Given the description of an element on the screen output the (x, y) to click on. 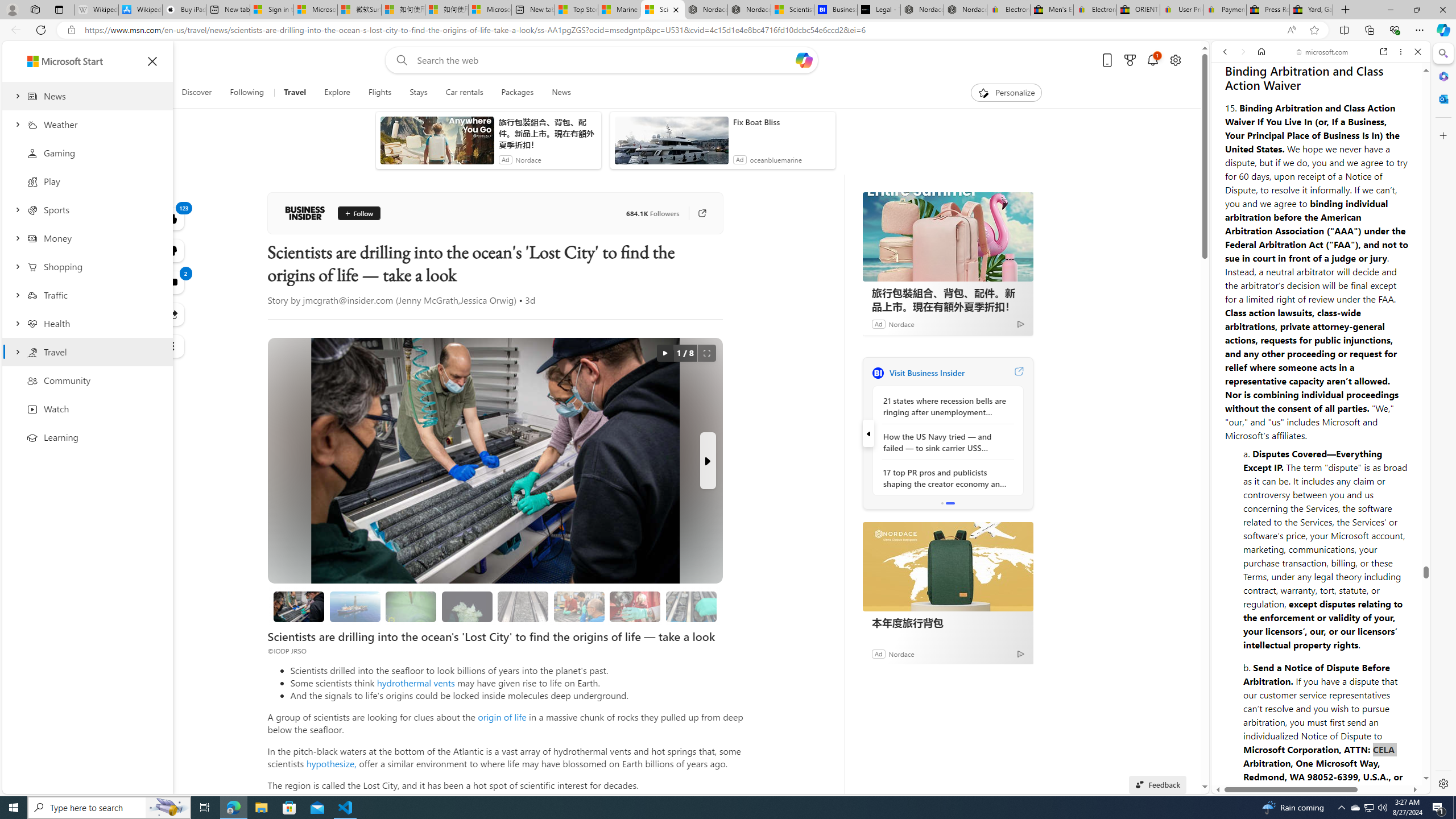
Looking for evidence of oxygen-free life (578, 606)
Full screen (706, 352)
The Lost City could hold clues to the origin of life. (466, 606)
View comments 2 Comment (172, 282)
